Given the description of an element on the screen output the (x, y) to click on. 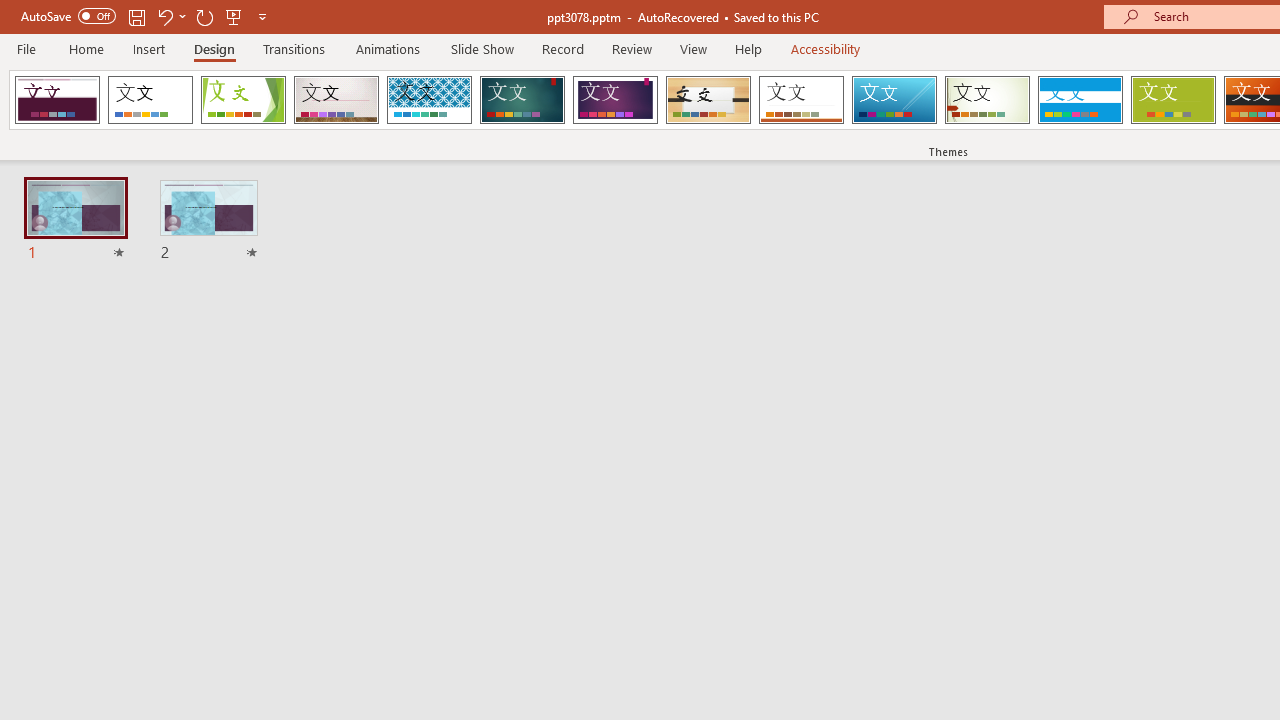
Ion (522, 100)
Slice (893, 100)
Basis (1172, 100)
Banded (1080, 100)
